Given the description of an element on the screen output the (x, y) to click on. 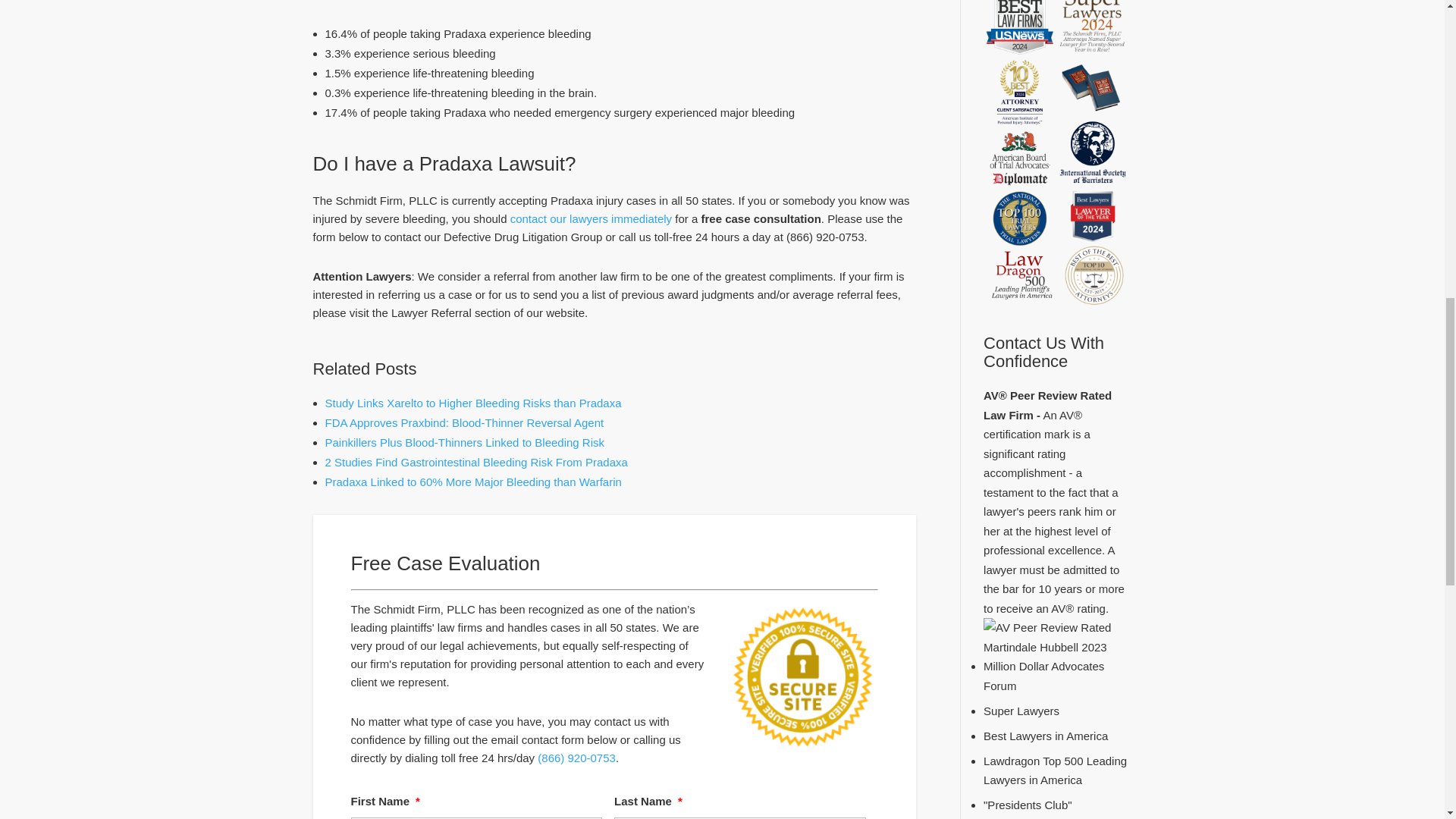
Painkillers Plus Blood-Thinners Linked to Bleeding Risk (464, 441)
FDA Approves Praxbind: Blood-Thinner Reversal Agent (464, 422)
2 Studies Find Gastrointestinal Bleeding Risk From Pradaxa (475, 461)
contact our lawyers immediately (591, 218)
Study Links Xarelto to Higher Bleeding Risks than Pradaxa (472, 402)
